Given the description of an element on the screen output the (x, y) to click on. 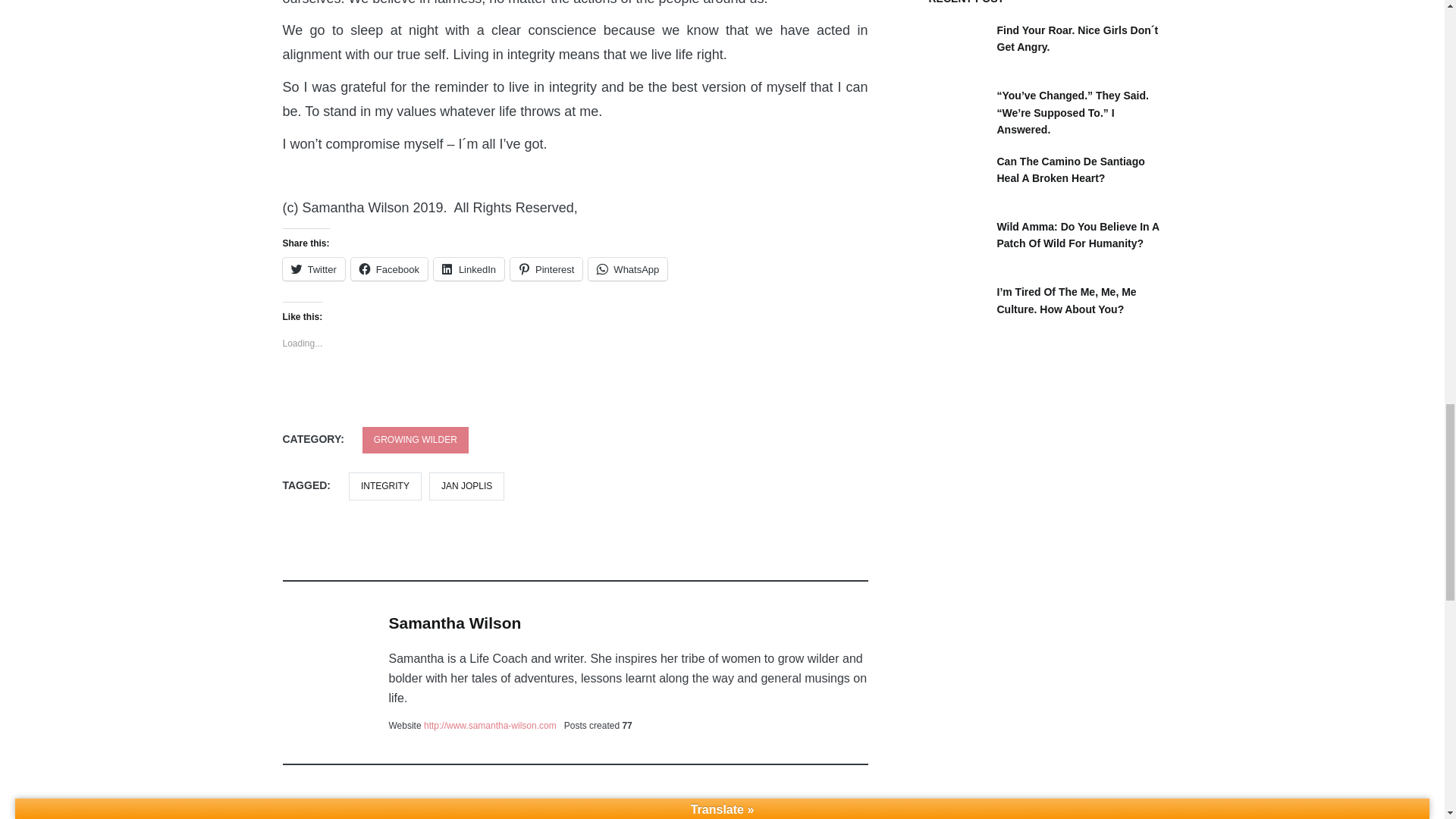
GROWING WILDER (415, 439)
Click to share on WhatsApp (627, 268)
Twitter (312, 268)
Posts by Samantha Wilson (454, 622)
Pinterest (546, 268)
Click to share on Facebook (389, 268)
Click to share on Twitter (312, 268)
LinkedIn (468, 268)
JAN JOPLIS (466, 486)
Click to share on LinkedIn (468, 268)
